Given the description of an element on the screen output the (x, y) to click on. 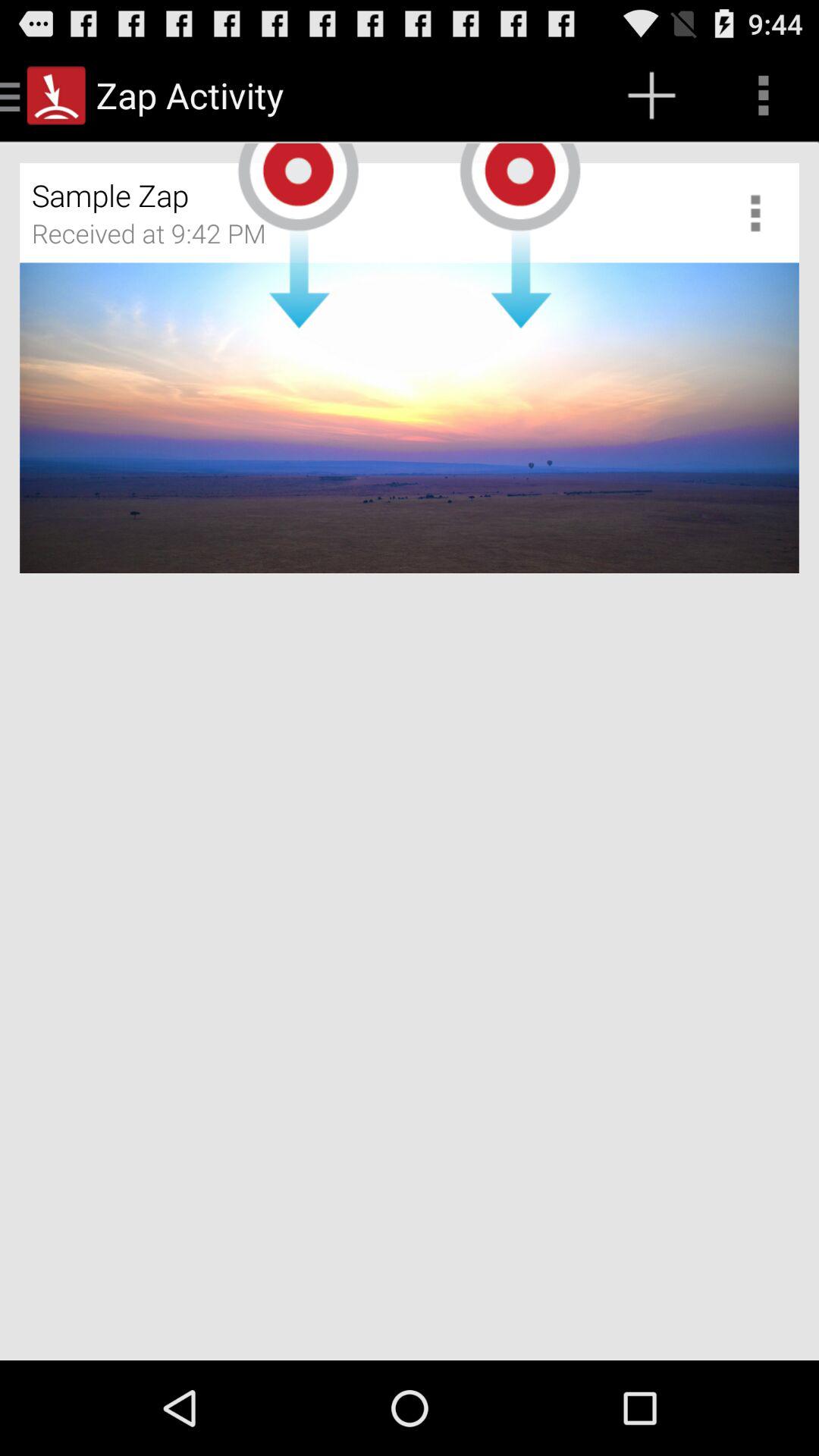
tap the sample zap icon (320, 189)
